Given the description of an element on the screen output the (x, y) to click on. 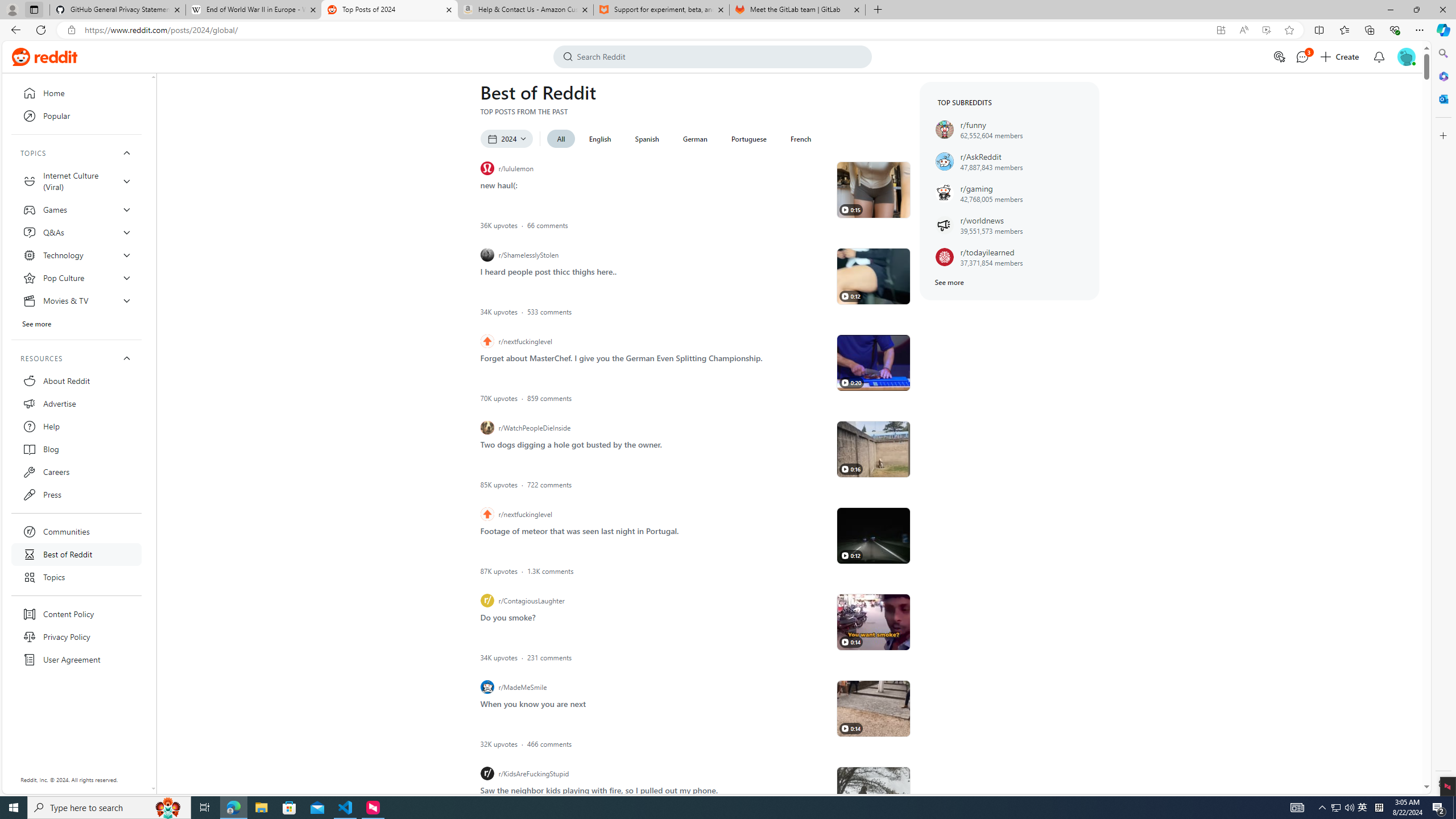
Open chat (1301, 56)
Open inbox (1378, 56)
Topics (76, 576)
r/gaming 42,768,005 members (1009, 193)
Communities (76, 531)
r/nextfuckinglevel icon (486, 513)
r/gaming icon (943, 193)
User Avatar Expand user menu (1406, 56)
About Reddit (76, 380)
German (694, 138)
